Given the description of an element on the screen output the (x, y) to click on. 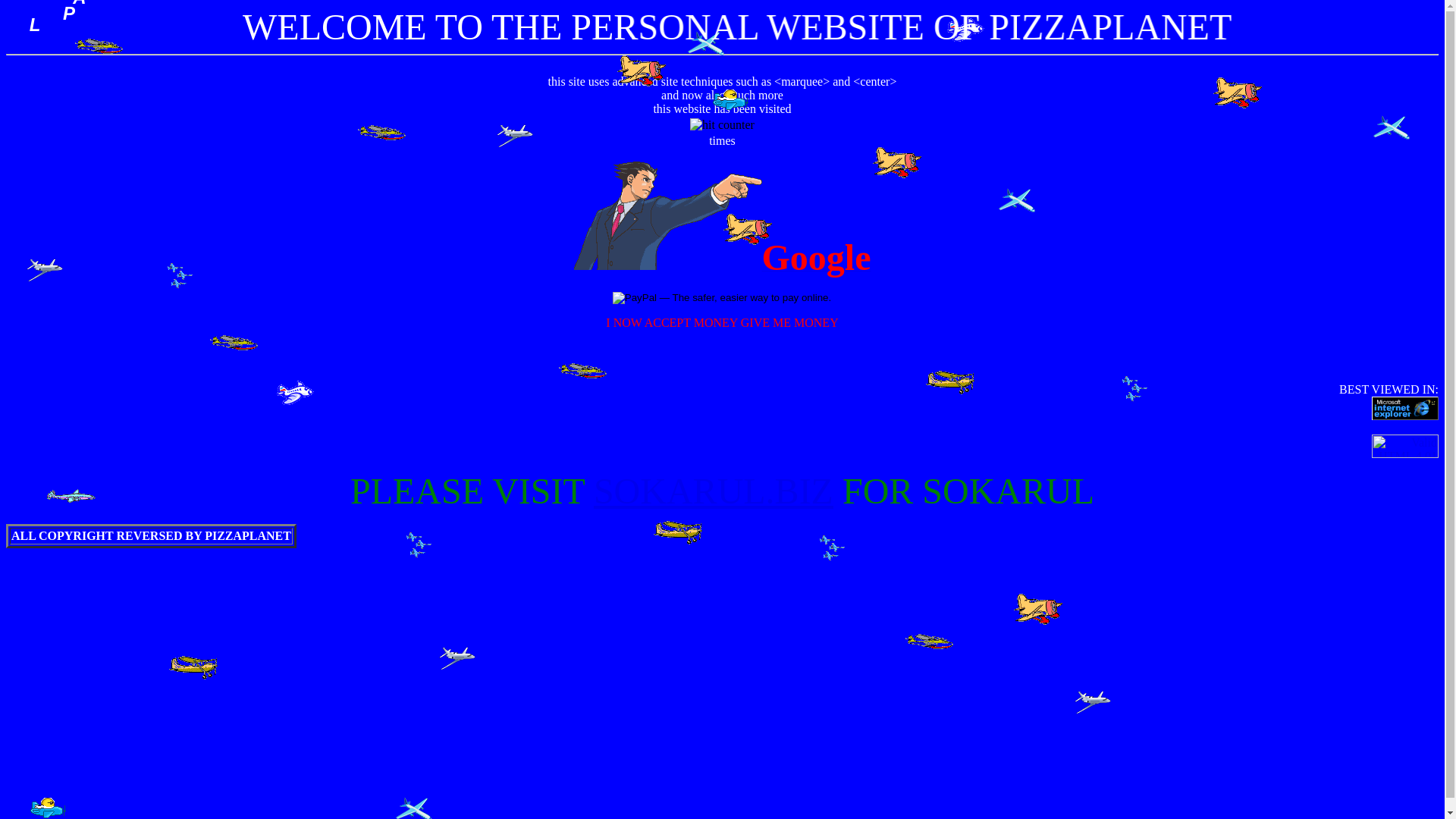
Google Element type: text (721, 265)
hit counter Element type: hover (722, 124)
SOKARUL.BIZ Element type: text (713, 490)
